Given the description of an element on the screen output the (x, y) to click on. 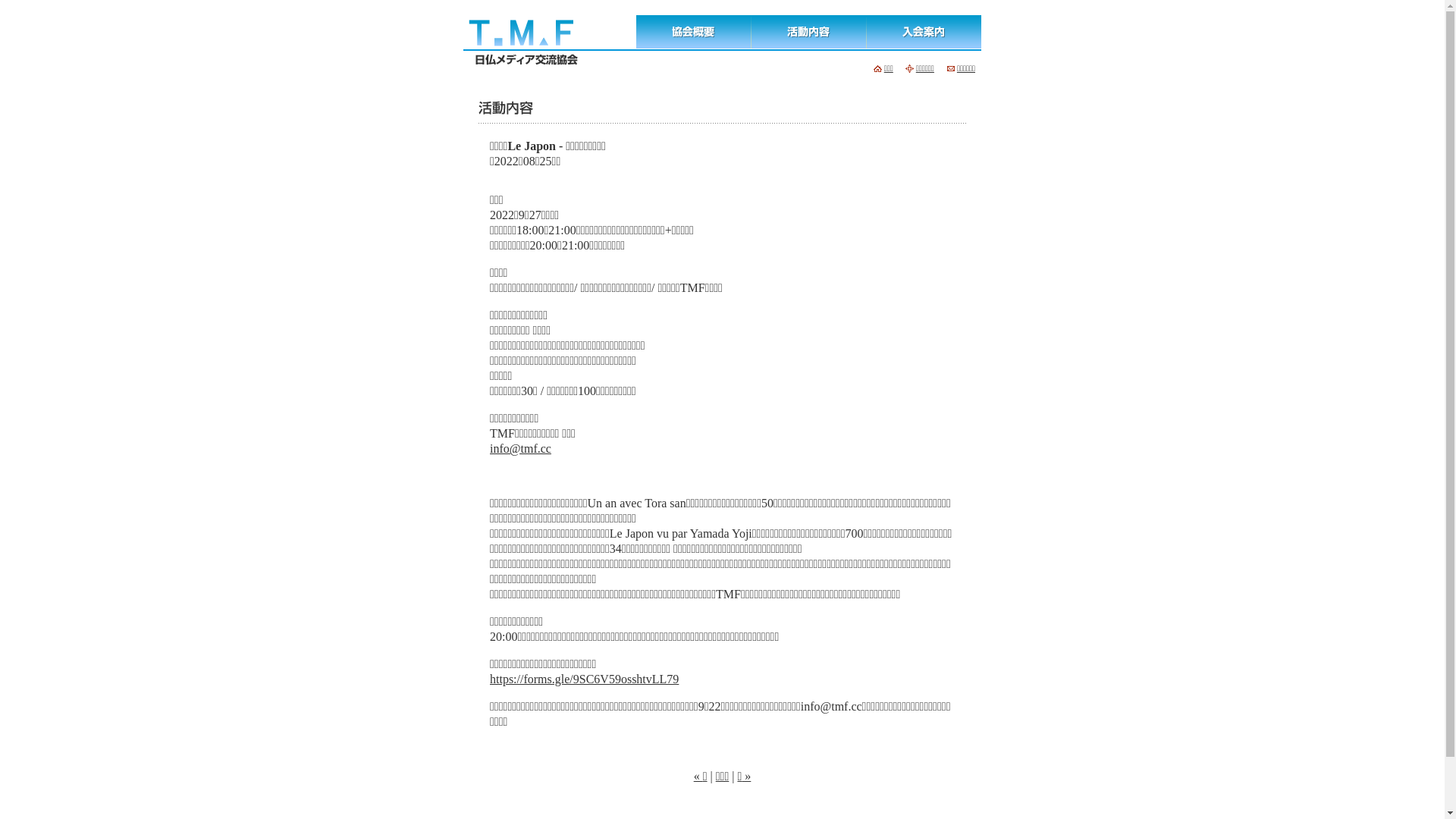
info@tmf.cc Element type: text (520, 448)
https://forms.gle/9SC6V59osshtvLL79 Element type: text (583, 678)
